Given the description of an element on the screen output the (x, y) to click on. 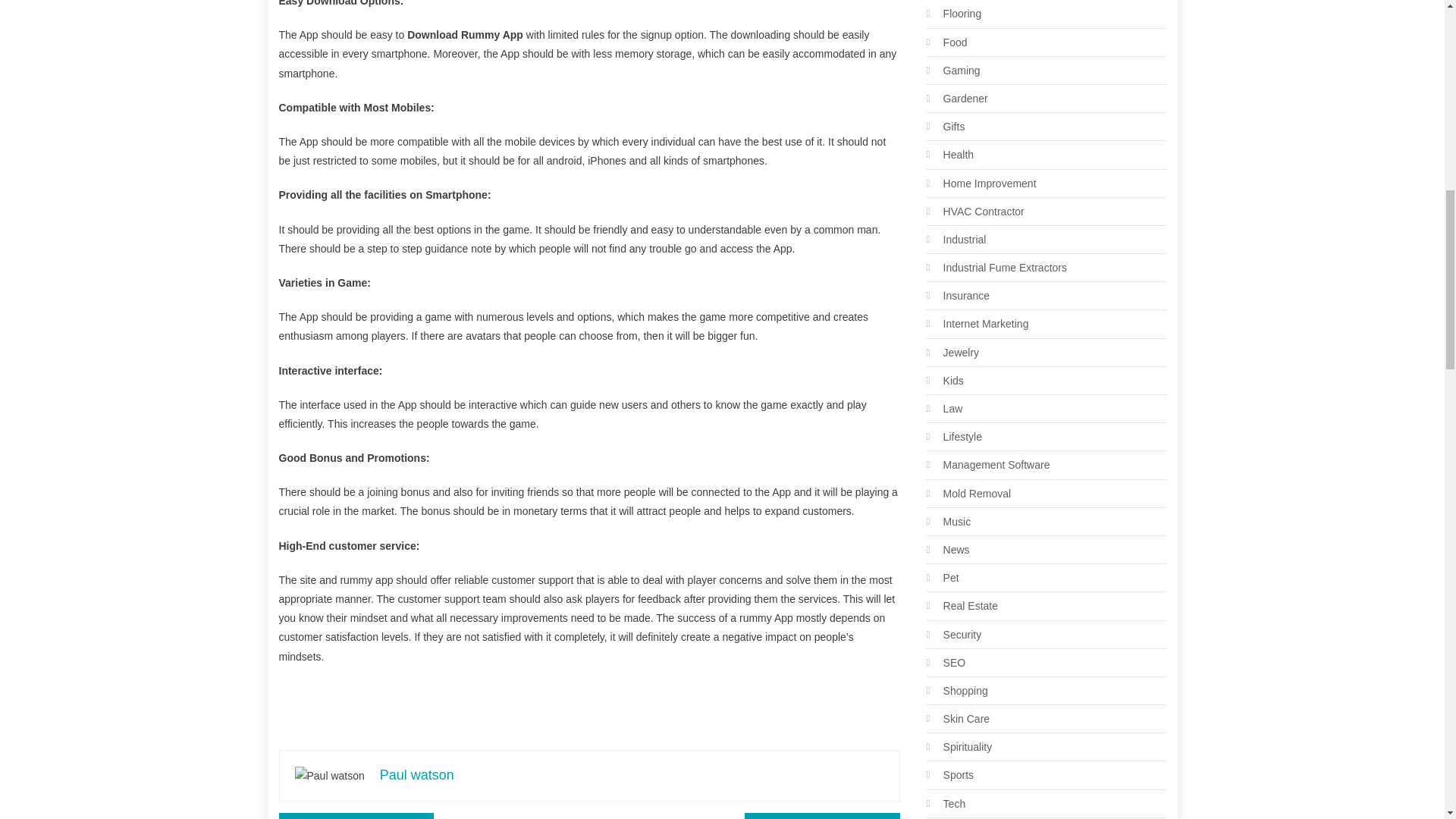
Benefits Of Hiring A Reputed Wrongful Death Attorney (356, 816)
Paul watson (417, 774)
Pennsylvania Craps is On a Roll at Parx Casino (821, 816)
